Given the description of an element on the screen output the (x, y) to click on. 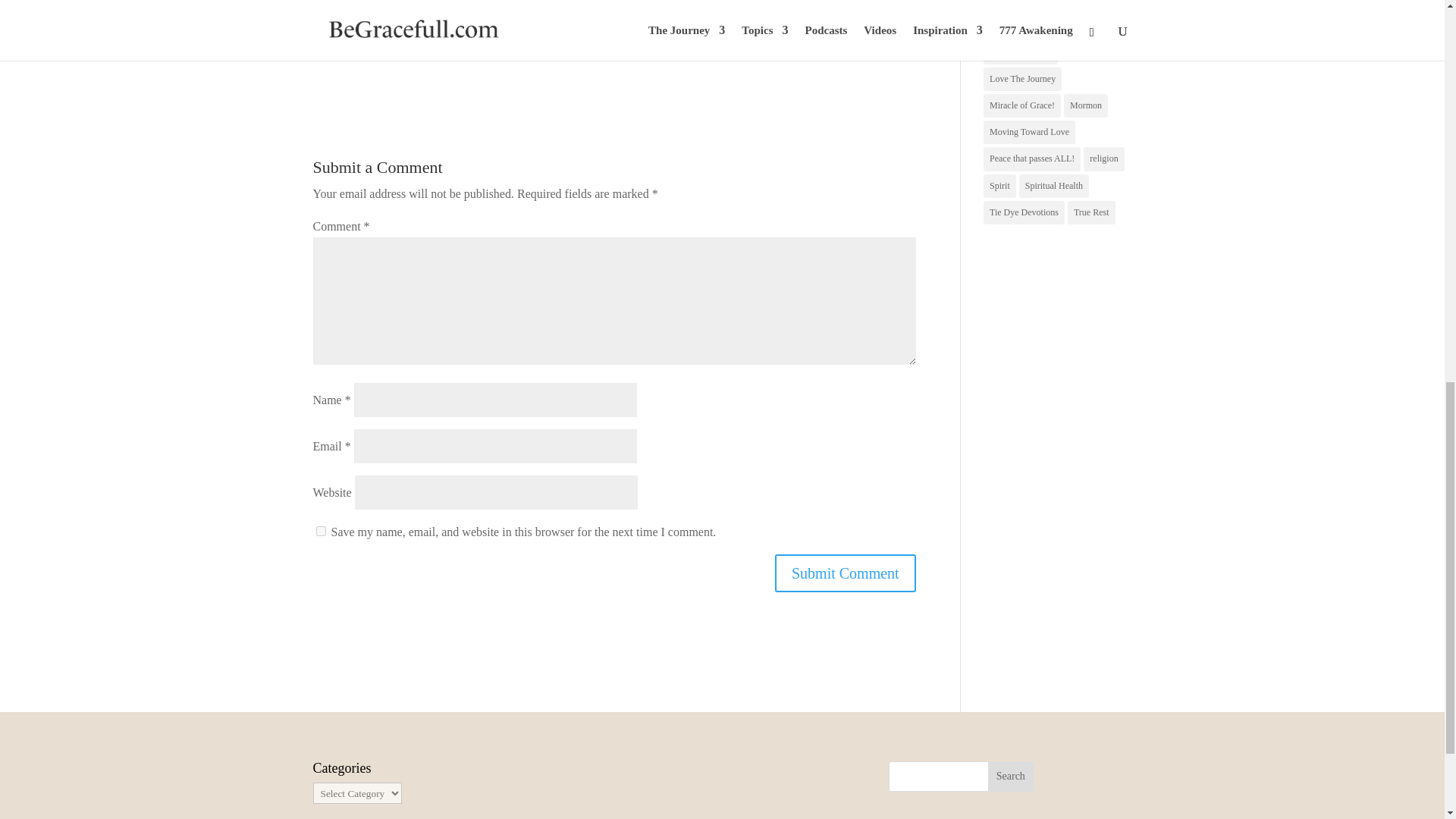
Search (1010, 776)
Submit Comment (844, 573)
Submit Comment (844, 573)
yes (319, 531)
